Given the description of an element on the screen output the (x, y) to click on. 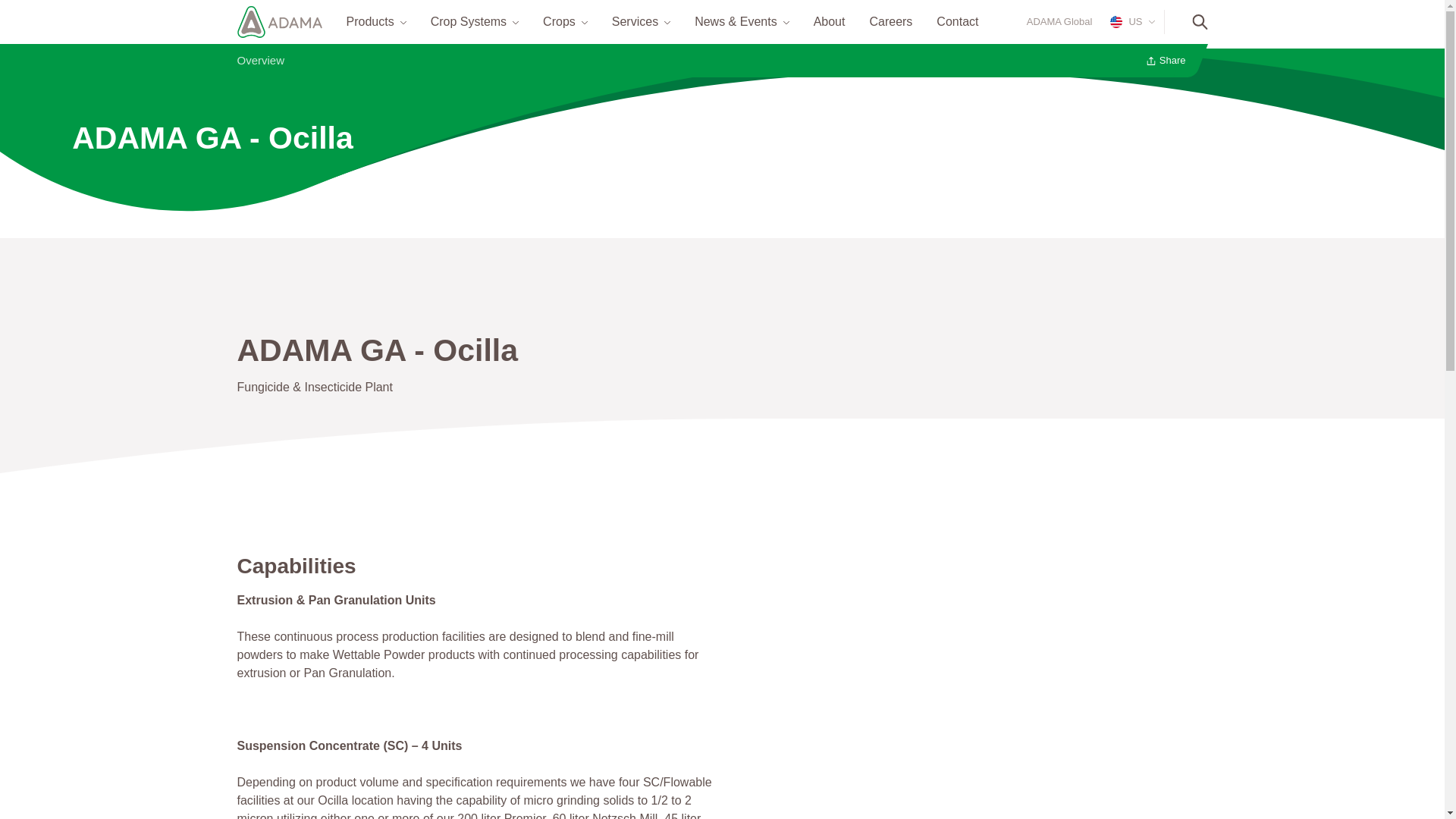
ADAMA Global (1059, 21)
Contact (957, 21)
US (1128, 21)
Crop Systems (468, 21)
Careers (890, 21)
Products (369, 21)
About (829, 21)
